Given the description of an element on the screen output the (x, y) to click on. 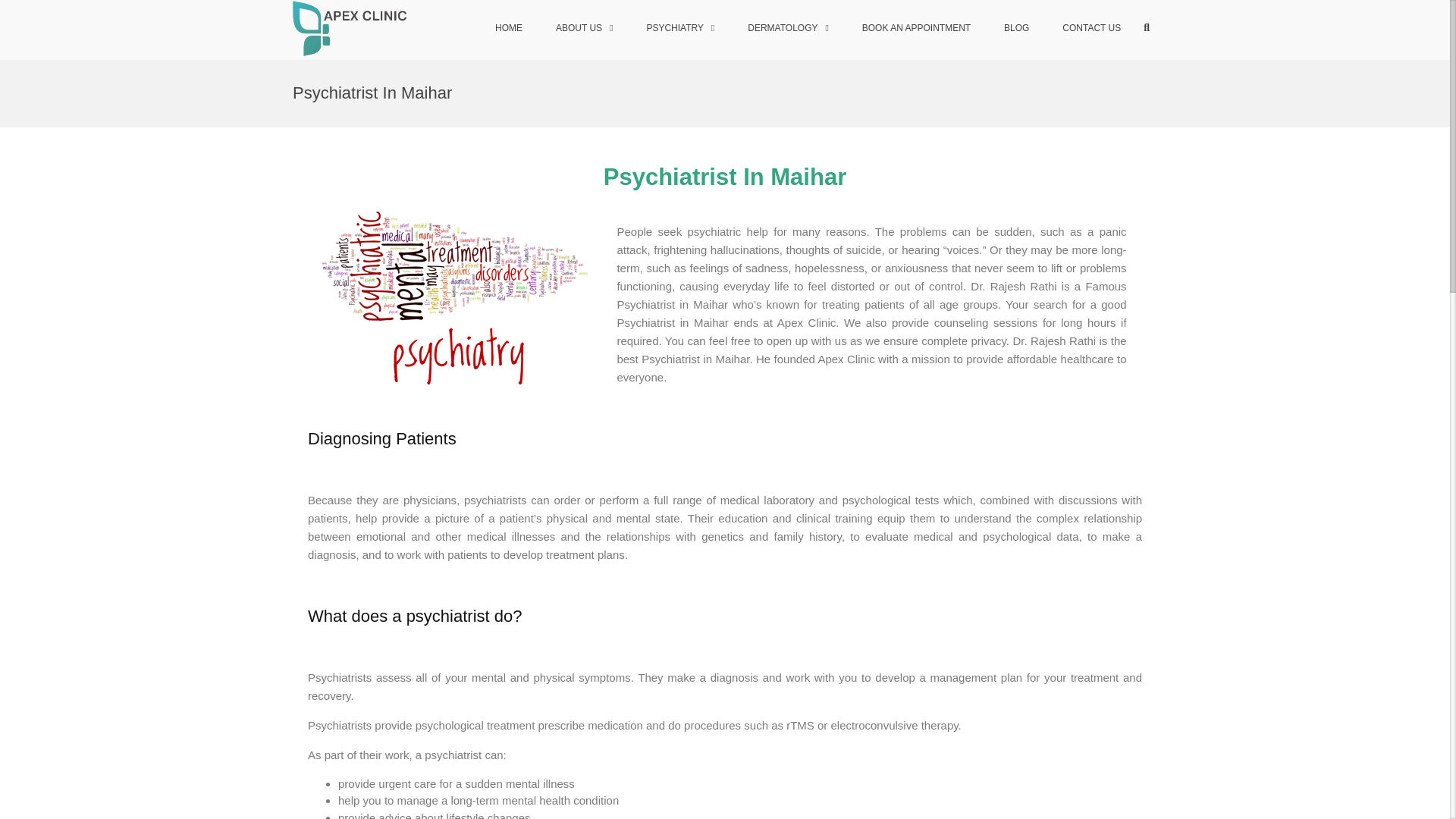
DERMATOLOGY (788, 28)
psychiatrist (454, 297)
HOME (508, 28)
ABOUT US (584, 28)
PSYCHIATRY (679, 28)
